Given the description of an element on the screen output the (x, y) to click on. 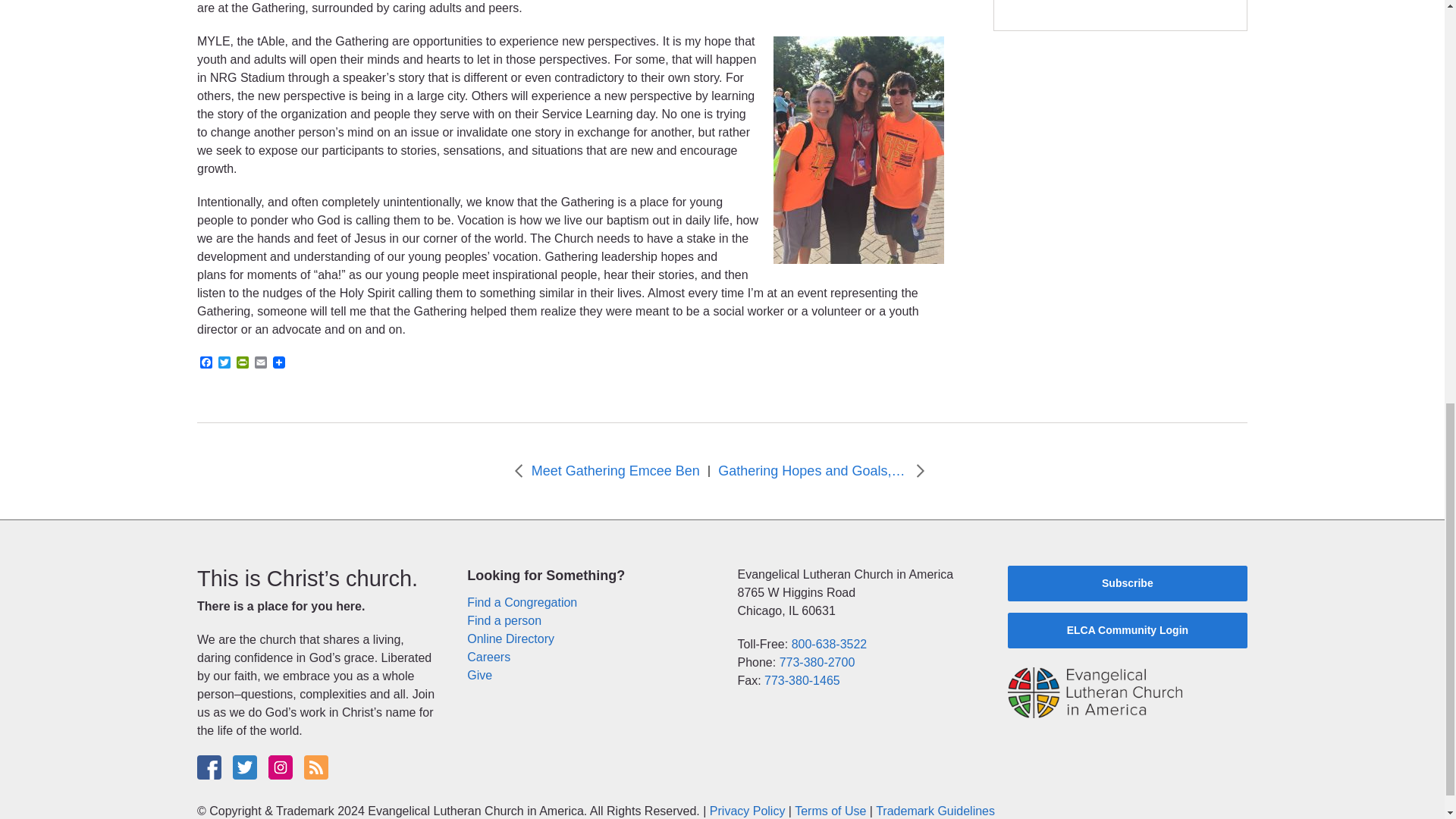
Meet Gathering Emcee Ben (615, 471)
PrintFriendly (241, 363)
Email (260, 363)
Facebook (205, 363)
Gathering Hopes and Goals, Part II (812, 471)
Twitter (223, 363)
Email (260, 363)
PrintFriendly (241, 363)
Twitter (223, 363)
Facebook (205, 363)
